Given the description of an element on the screen output the (x, y) to click on. 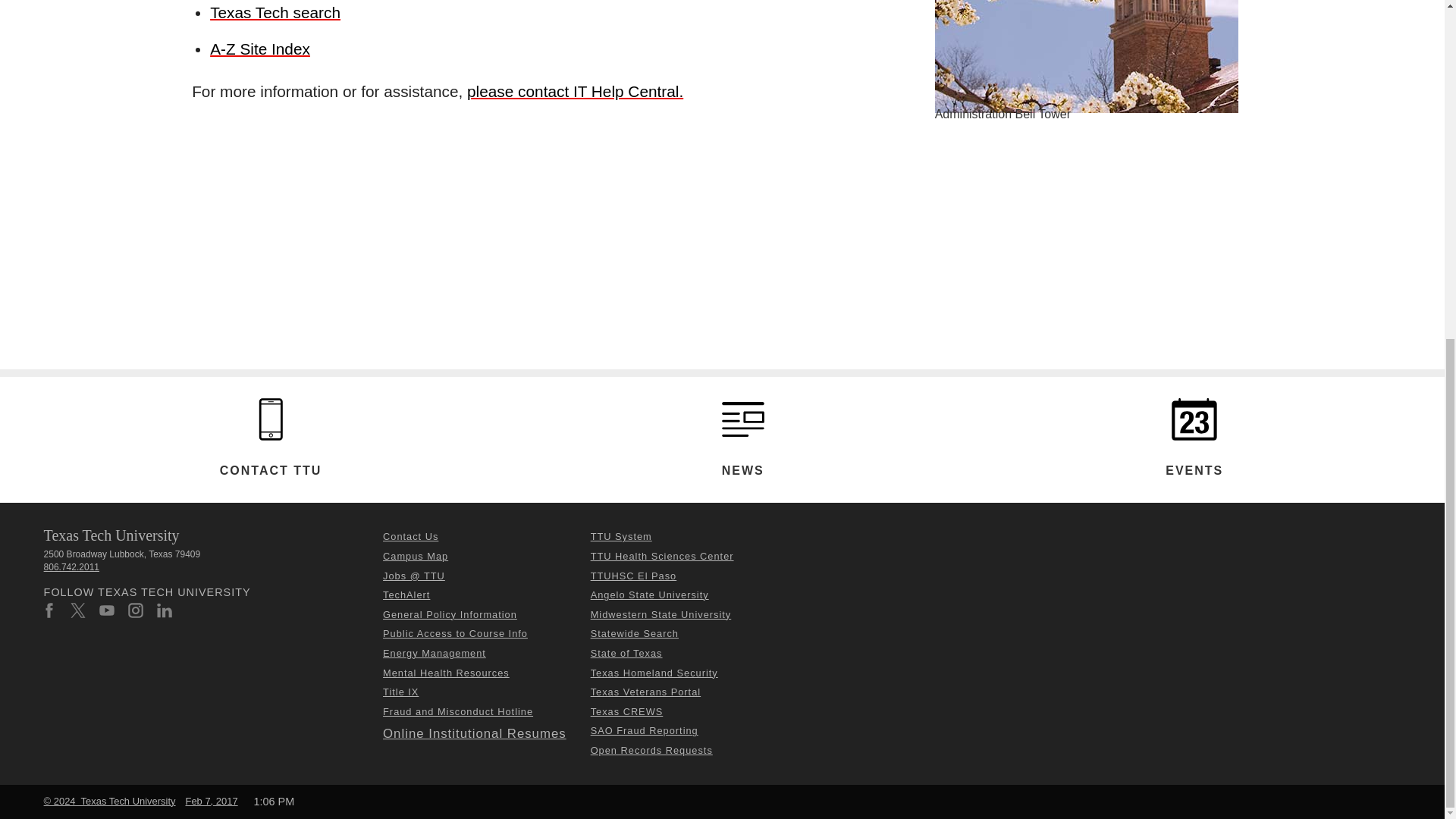
CONTACT CONTACT TTUCONTACT CONTACT TTU (270, 419)
NEWS FOR NEWSNEWS FOR NEWS (743, 419)
EVENTSEVENTS (1193, 419)
